Given the description of an element on the screen output the (x, y) to click on. 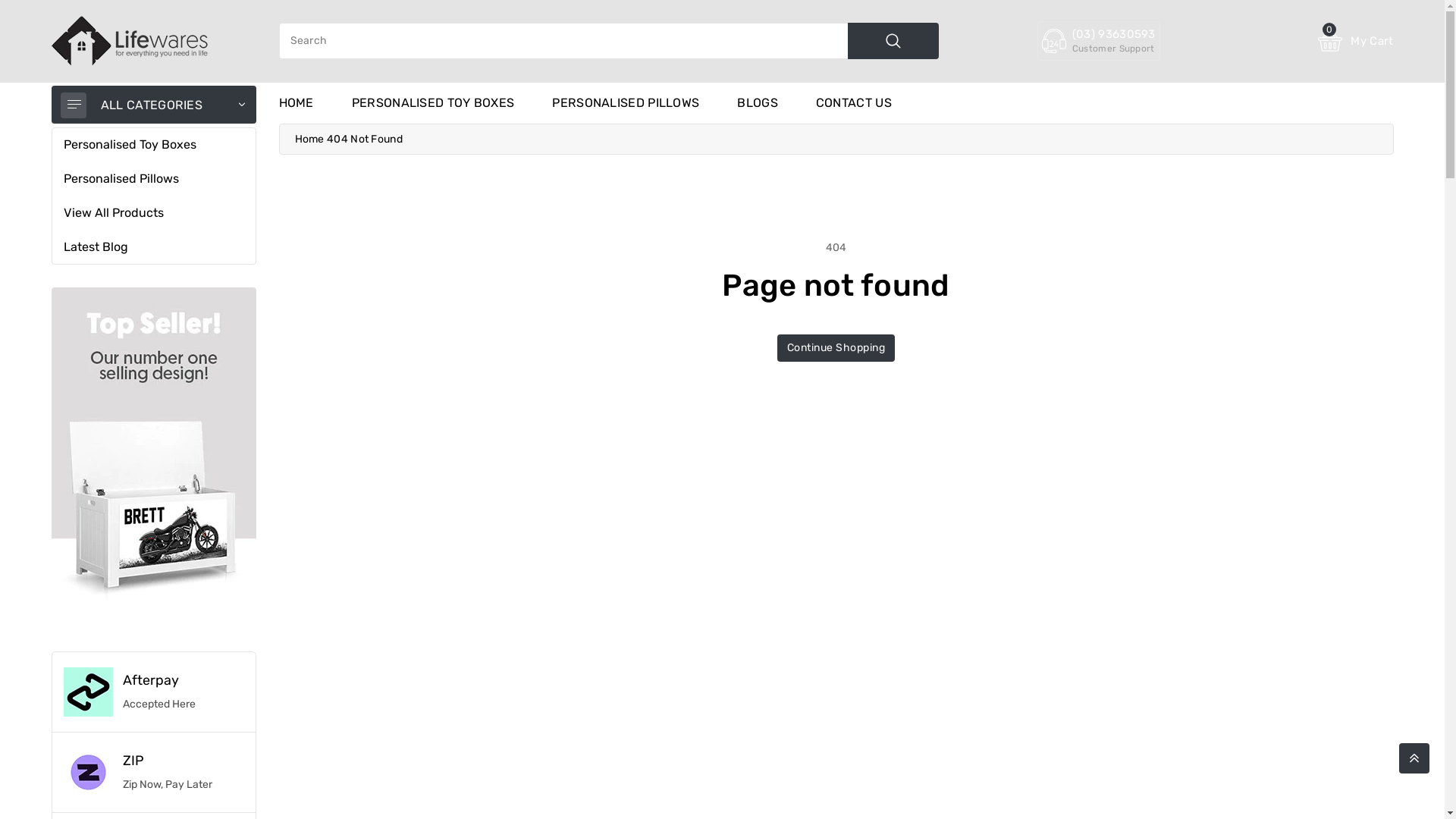
BLOGS Element type: text (757, 102)
PERSONALISED TOY BOXES Element type: text (432, 102)
Scroll to top Element type: hover (1414, 758)
View All Products Element type: text (153, 213)
Personalised Toy Boxes Element type: text (153, 145)
Continue Shopping Element type: text (836, 347)
HOME Element type: text (296, 102)
Banners Element type: hover (153, 457)
Home Element type: text (308, 138)
Personalised Pillows Element type: text (153, 179)
CONTACT US Element type: text (853, 102)
PERSONALISED PILLOWS Element type: text (625, 102)
Latest Blog Element type: text (153, 246)
